Given the description of an element on the screen output the (x, y) to click on. 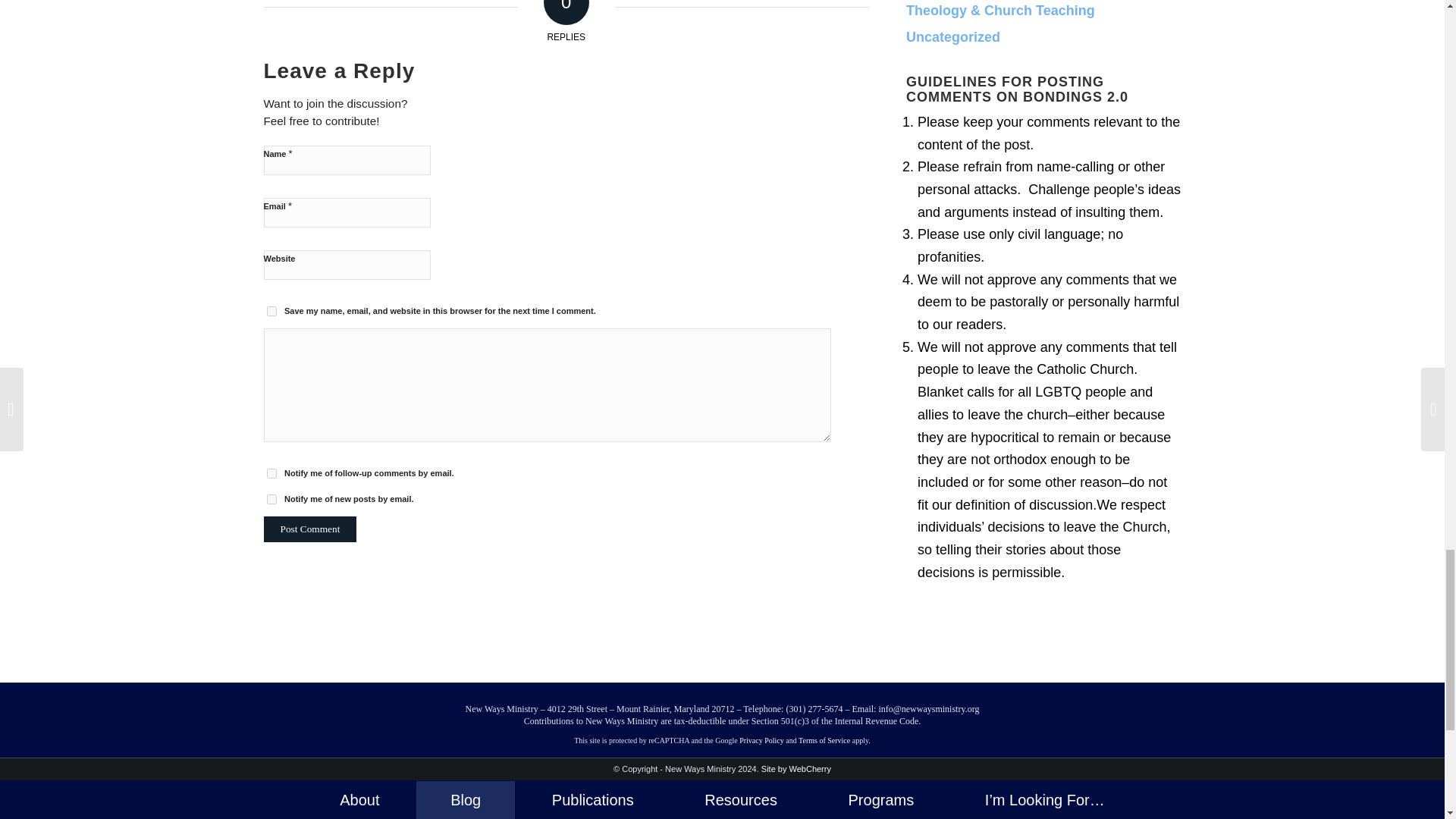
yes (271, 311)
Post Comment (309, 529)
subscribe (271, 473)
subscribe (271, 499)
